Given the description of an element on the screen output the (x, y) to click on. 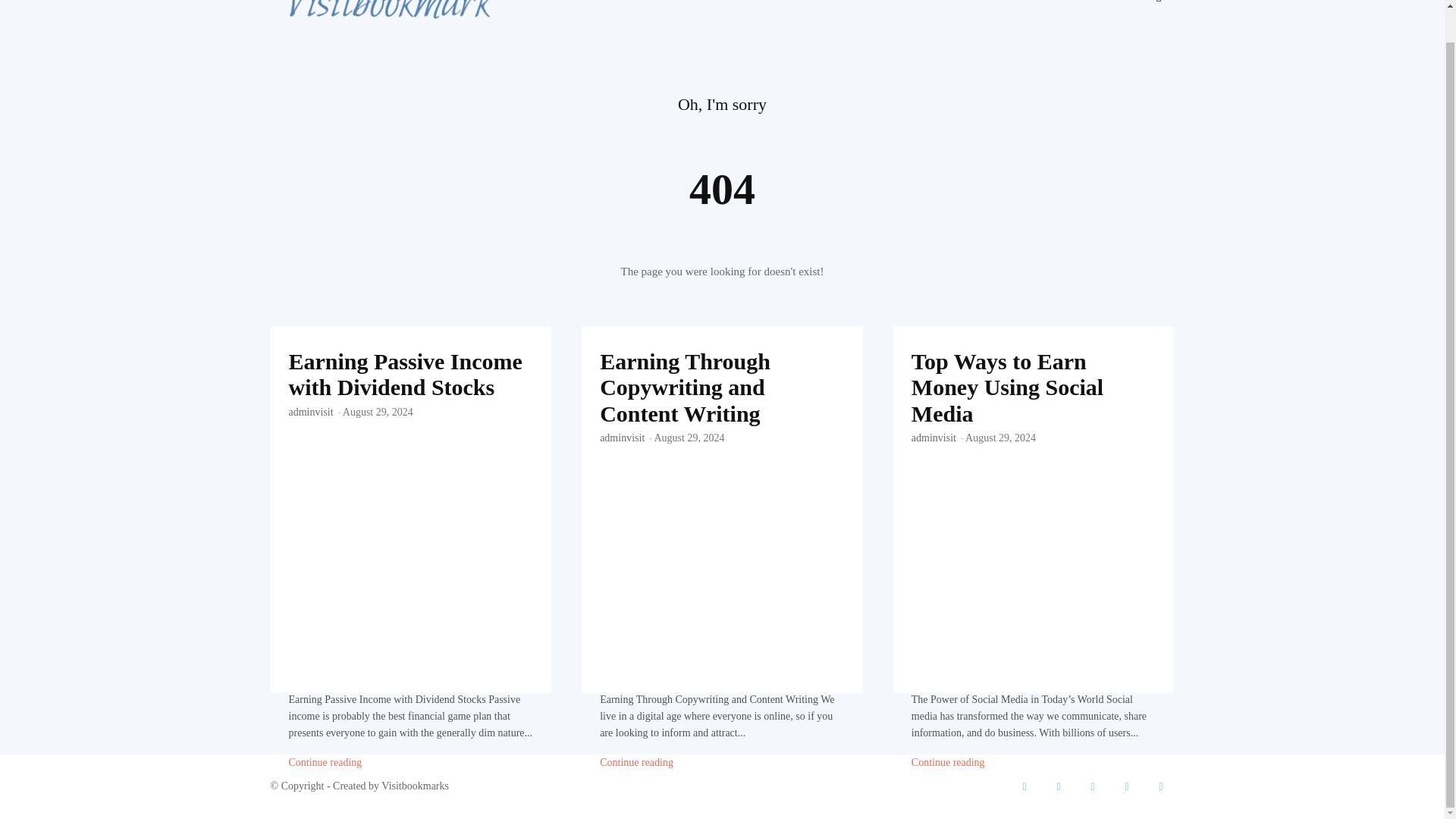
DMCA (1101, 13)
Instagram (1093, 786)
Visitbookmarks (380, 1)
HOME (567, 13)
Continue reading (635, 762)
Top Ways to Earn Money Using Social Media (1007, 386)
Continue reading (324, 762)
Continue reading (948, 762)
Continue reading (324, 762)
Flickr (1058, 786)
